Given the description of an element on the screen output the (x, y) to click on. 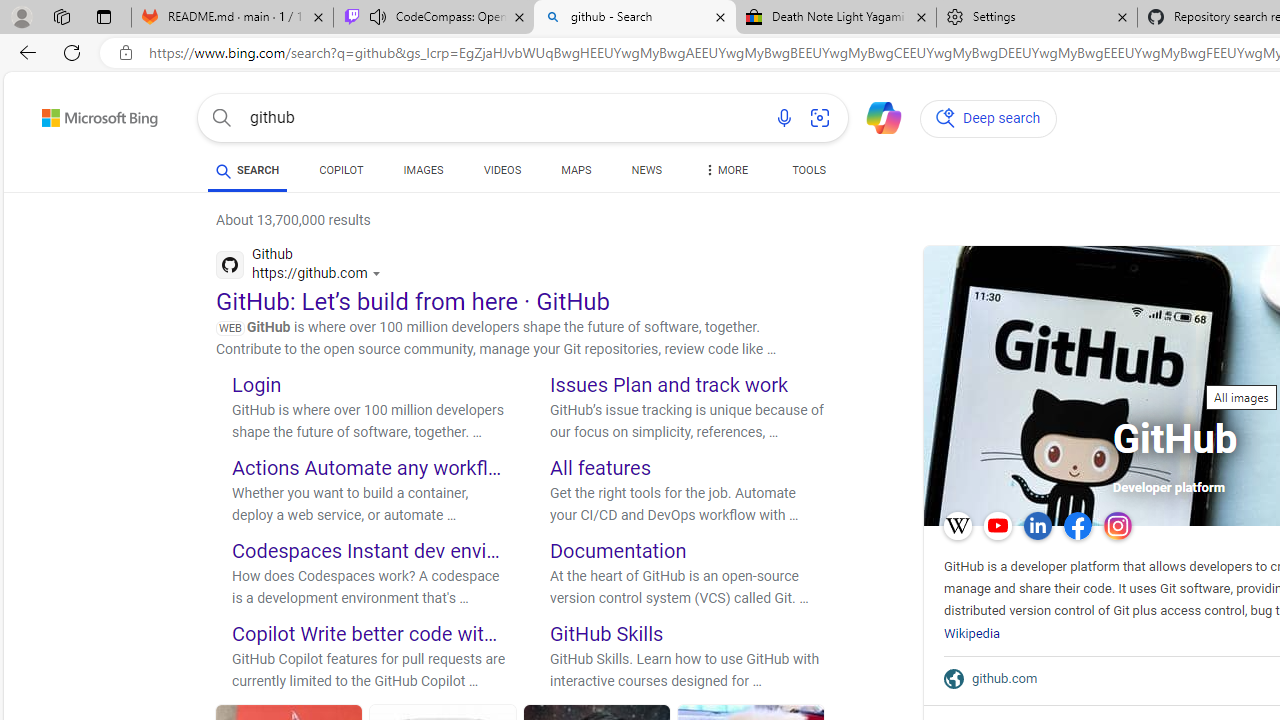
github.com (1010, 678)
SEARCH (247, 170)
TOOLS (808, 170)
Chat (875, 116)
Class: sp-ofsite (953, 678)
Search button (221, 117)
Dropdown Menu (724, 170)
YouTube (998, 525)
NEWS (646, 173)
github - Search (634, 17)
